Given the description of an element on the screen output the (x, y) to click on. 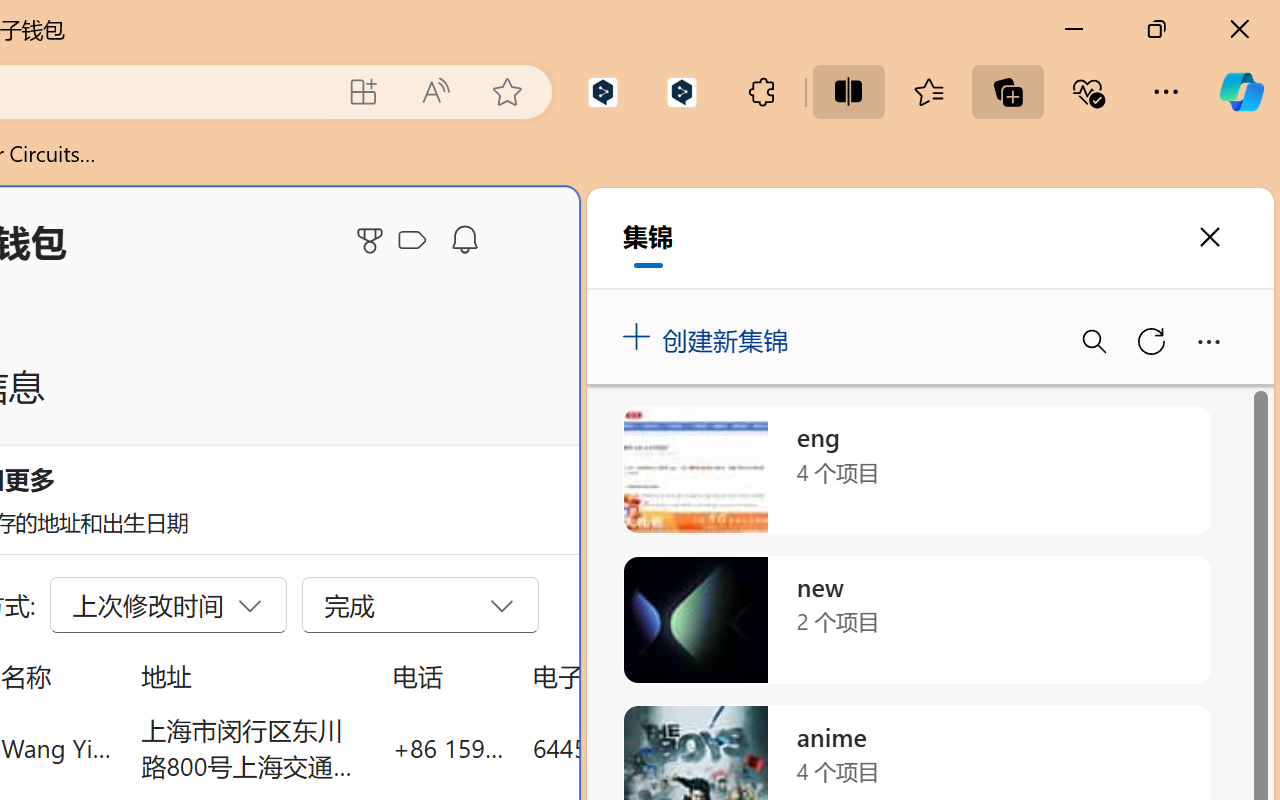
Microsoft Rewards (373, 240)
+86 159 0032 4640 (447, 747)
